Given the description of an element on the screen output the (x, y) to click on. 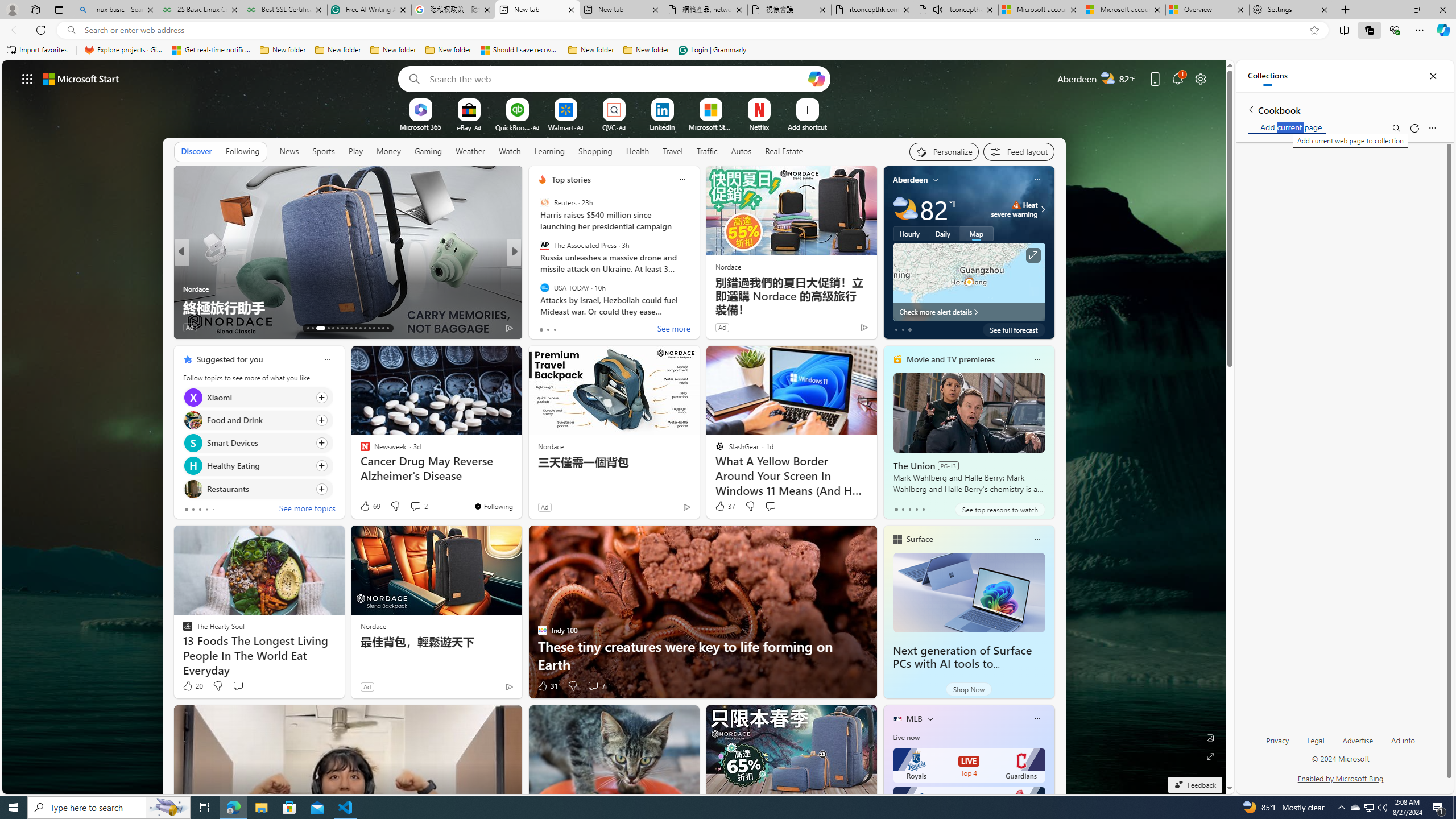
AutomationID: tab-21 (350, 328)
Aberdeen (910, 179)
View comments 7 Comment (596, 685)
886 Like (545, 327)
Map (975, 233)
9 Like (541, 327)
AutomationID: backgroundImagePicture (613, 426)
Shop Now (968, 689)
See top reasons to watch (999, 509)
